Given the description of an element on the screen output the (x, y) to click on. 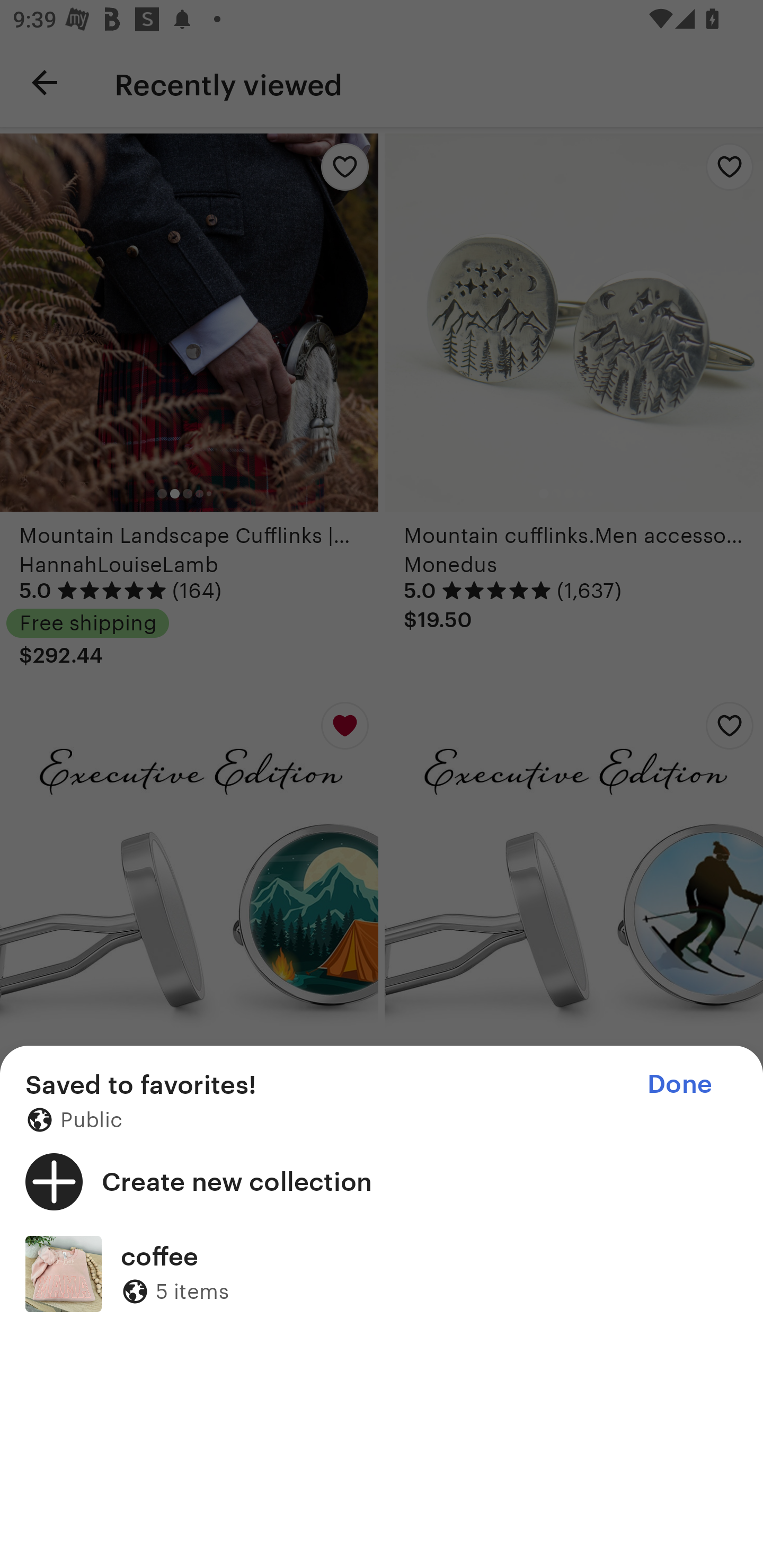
Done (679, 1083)
Create new collection (381, 1181)
coffee 5 items (381, 1273)
